Given the description of an element on the screen output the (x, y) to click on. 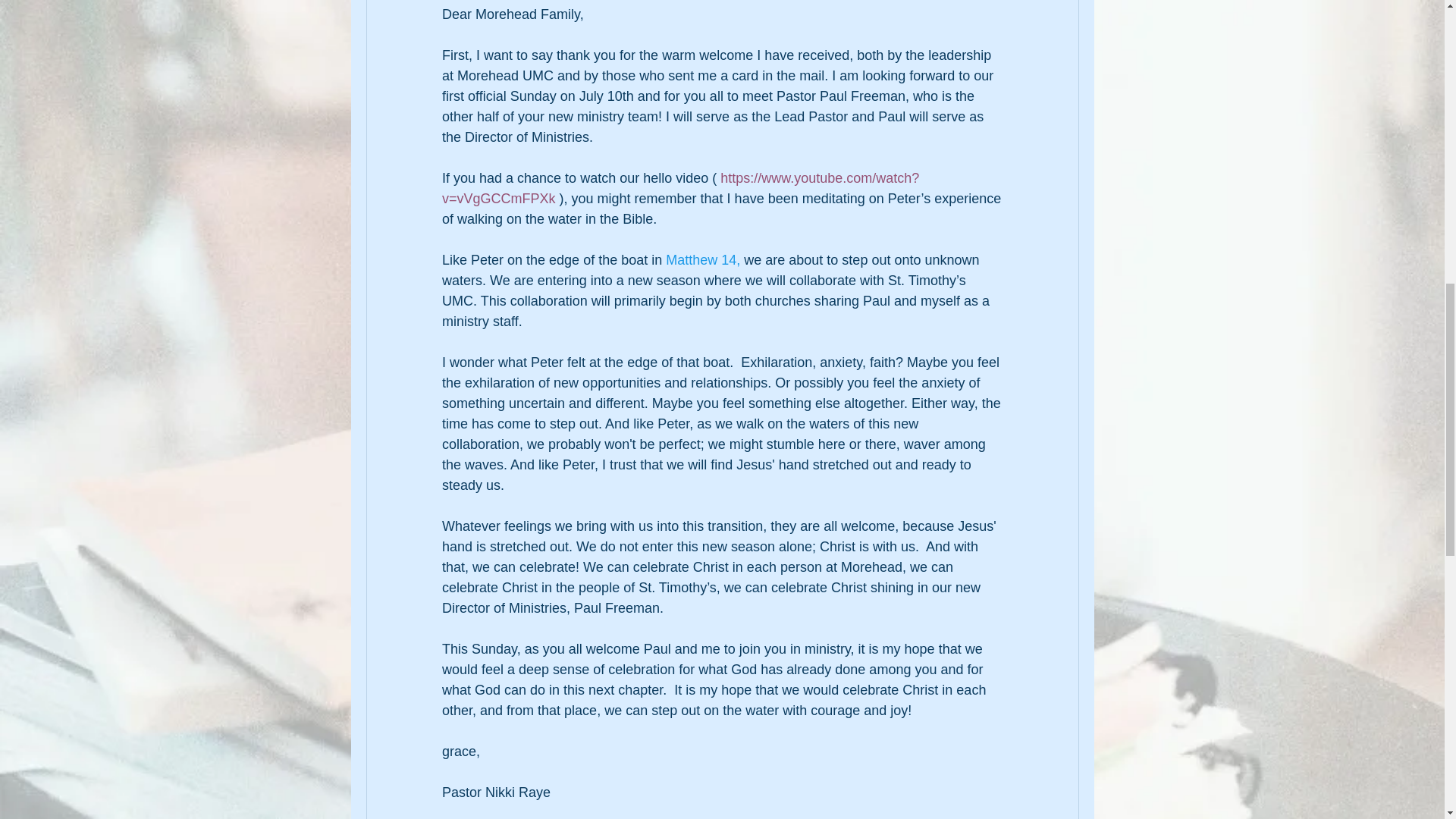
Matthew 14, (702, 259)
